Given the description of an element on the screen output the (x, y) to click on. 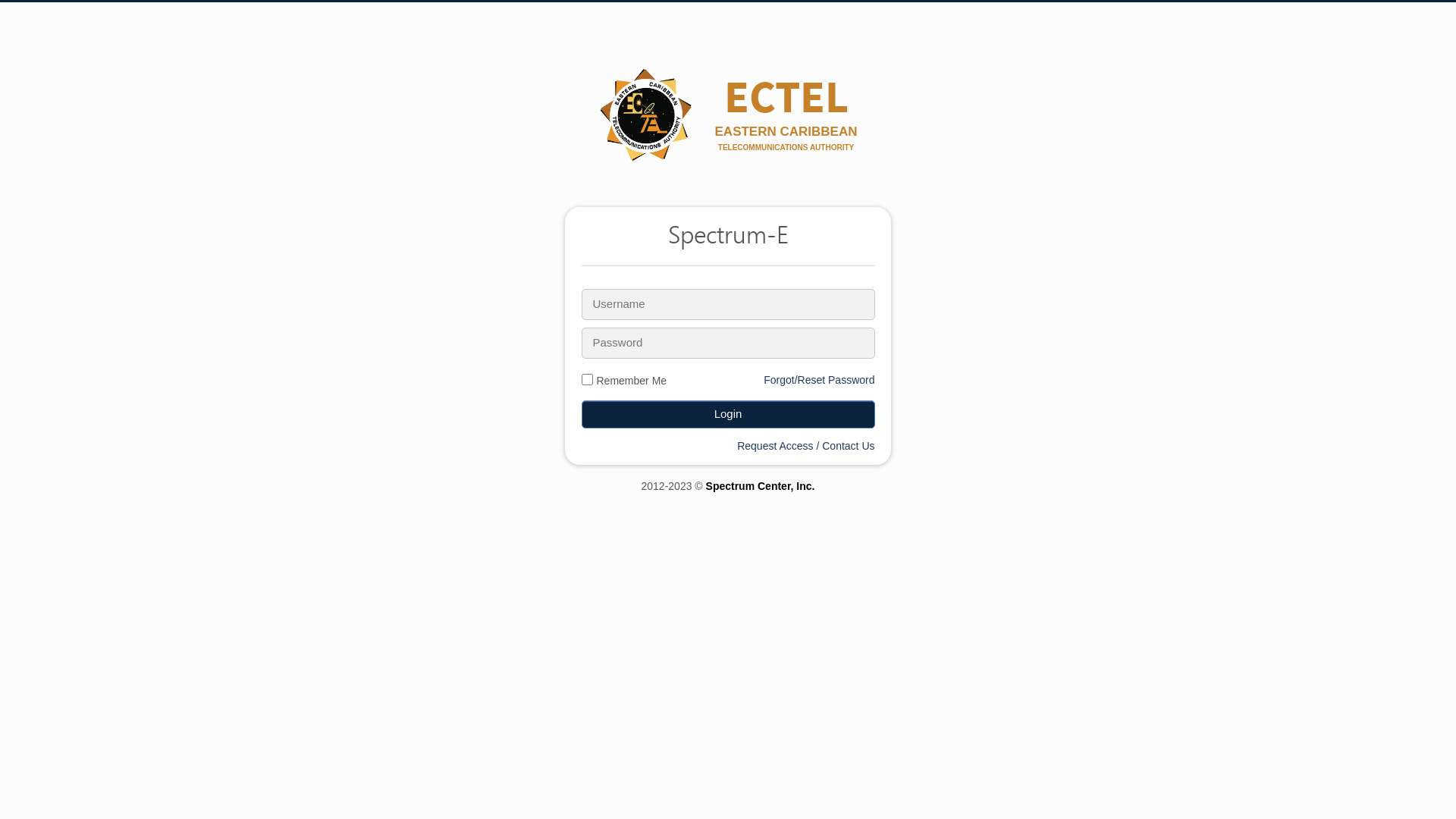
Request Access / Contact Us Element type: text (805, 445)
Login Element type: text (727, 414)
Forgot/Reset Password Element type: text (818, 379)
Renew Element type: text (655, 14)
Spectrum Center, Inc. Element type: text (760, 486)
